Given the description of an element on the screen output the (x, y) to click on. 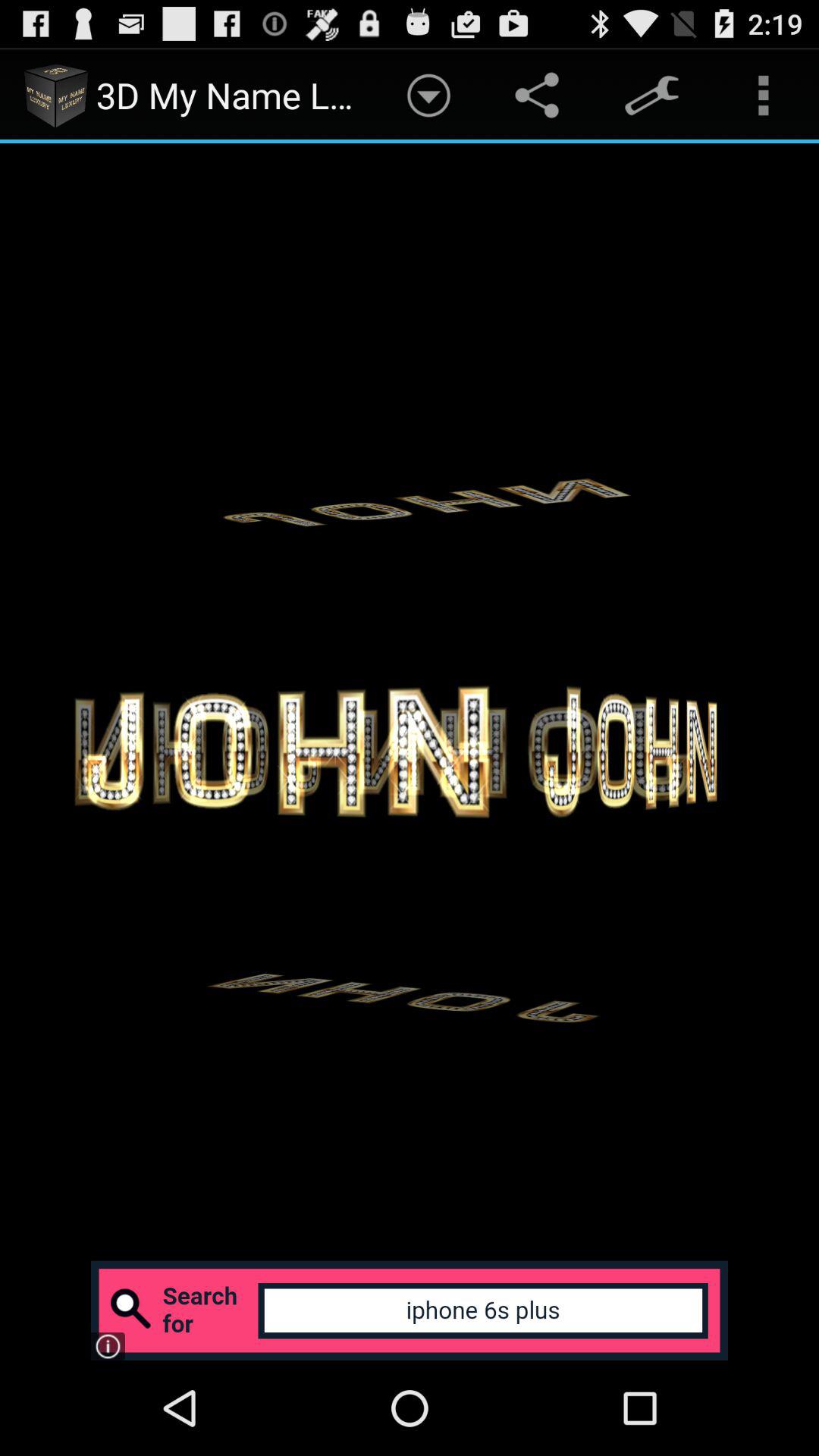
select icon to the right of the 3d my name app (428, 95)
